Given the description of an element on the screen output the (x, y) to click on. 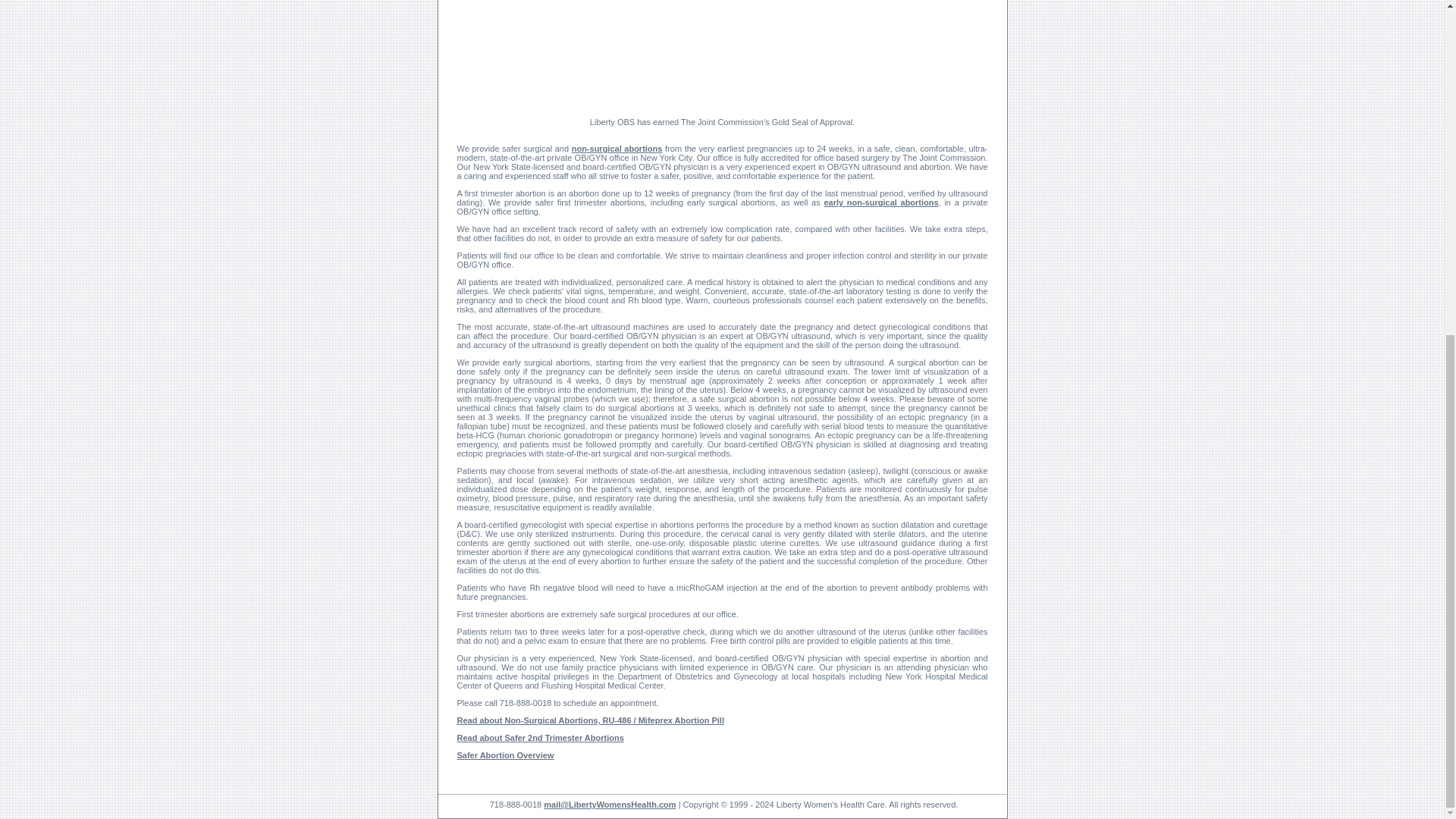
early non-surgical abortions (880, 202)
non-surgical abortions (617, 148)
Safer Abortion Overview (505, 755)
Read about Safer 2nd Trimester Abortions (540, 737)
